Given the description of an element on the screen output the (x, y) to click on. 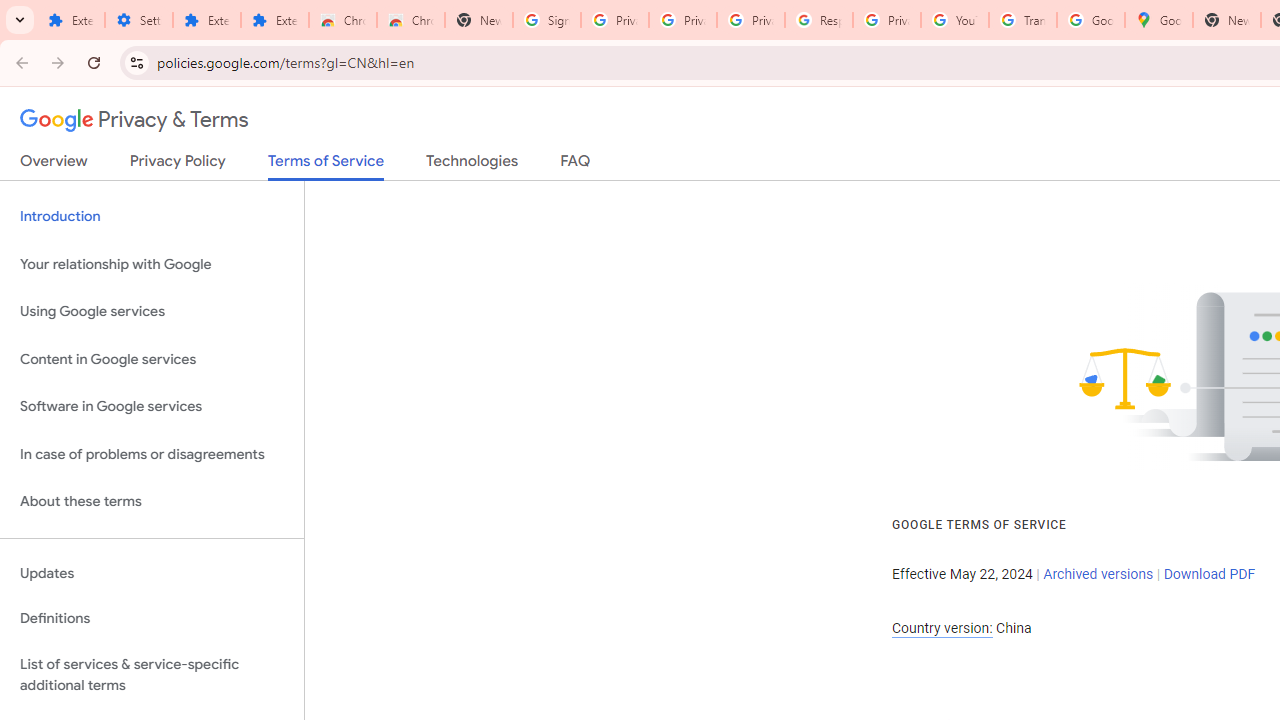
Country version: (942, 628)
Chrome Web Store - Themes (411, 20)
New Tab (479, 20)
Chrome Web Store (342, 20)
YouTube (954, 20)
In case of problems or disagreements (152, 453)
Extensions (274, 20)
